Given the description of an element on the screen output the (x, y) to click on. 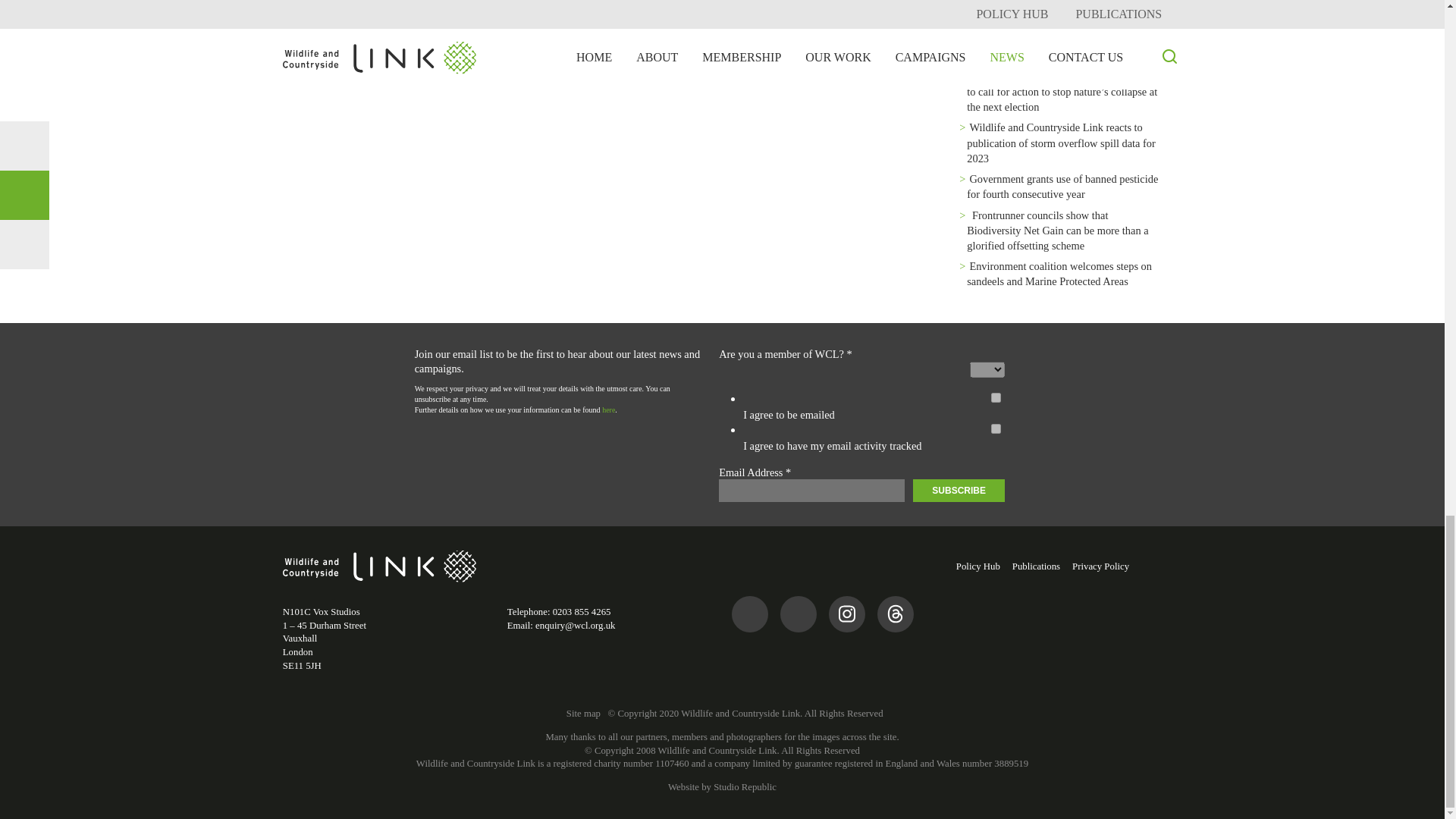
Subscribe (958, 490)
1 (996, 397)
2 (996, 429)
